Given the description of an element on the screen output the (x, y) to click on. 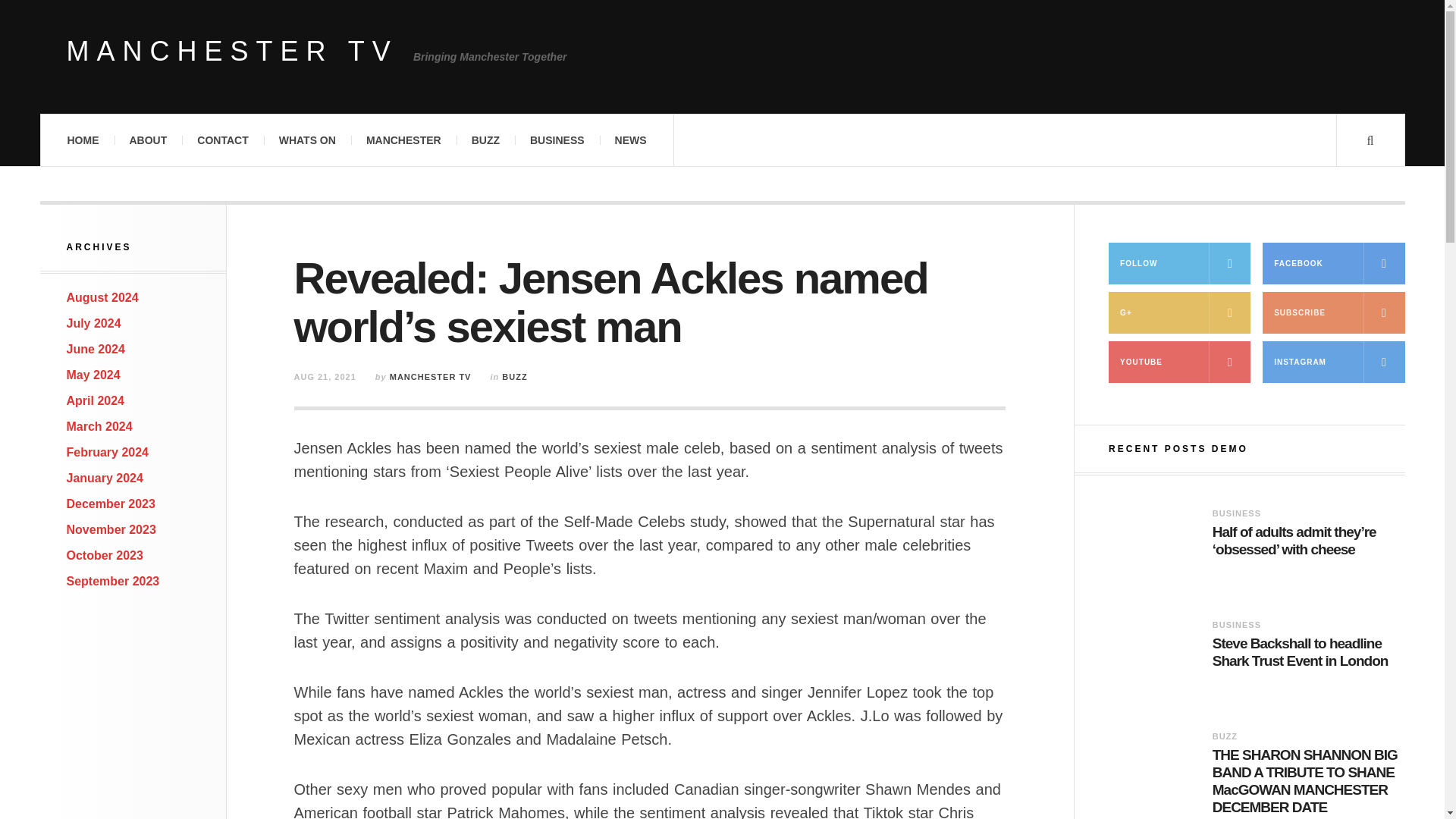
November 2023 (110, 529)
MANCHESTER TV (231, 51)
March 2024 (99, 426)
WHATS ON (306, 140)
May 2024 (93, 374)
October 2023 (104, 554)
ABOUT (147, 140)
NEWS (630, 140)
Manchester TV (231, 51)
June 2024 (95, 349)
